Given the description of an element on the screen output the (x, y) to click on. 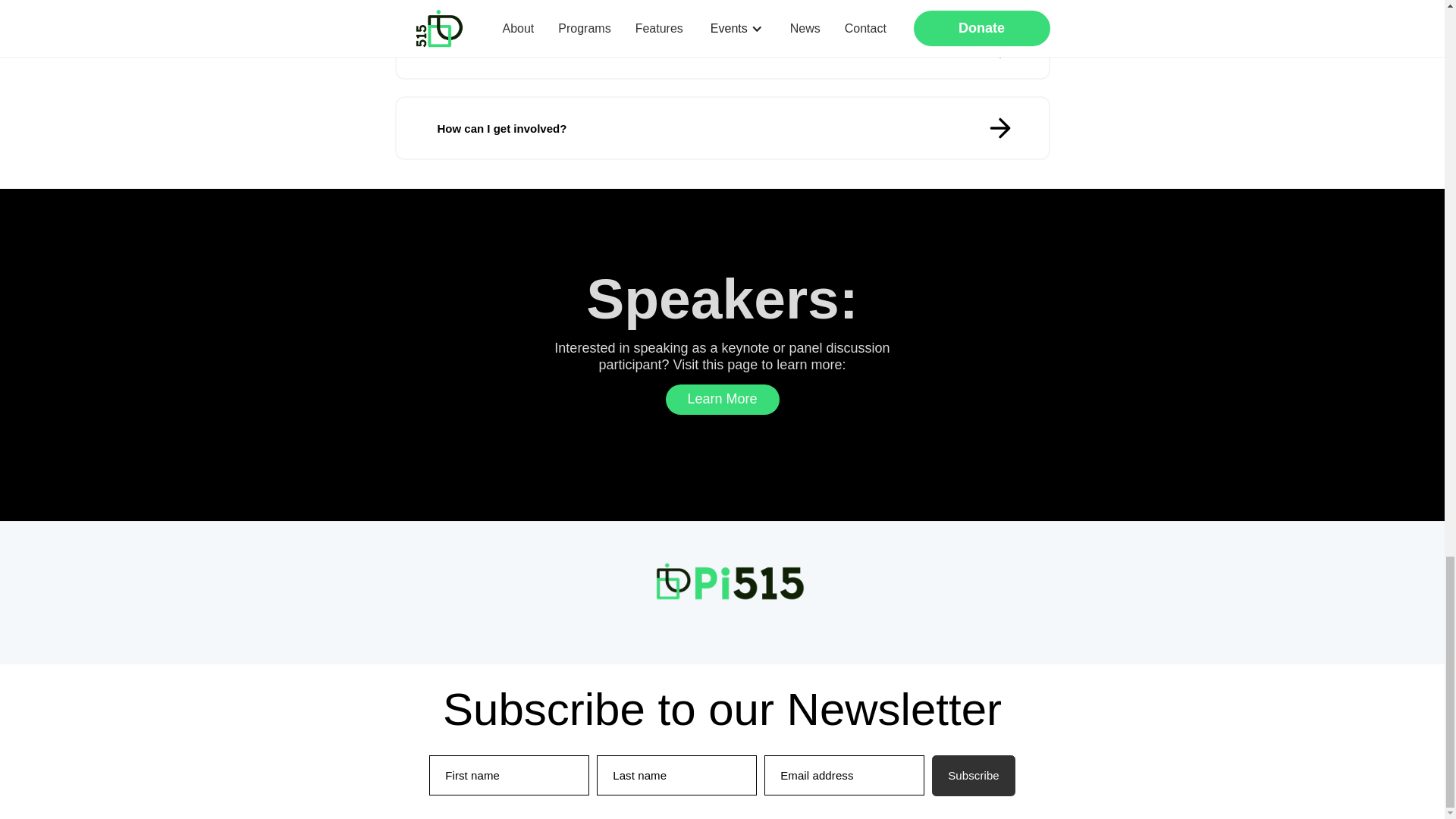
Subscribe (972, 775)
Learn More (721, 399)
